Given the description of an element on the screen output the (x, y) to click on. 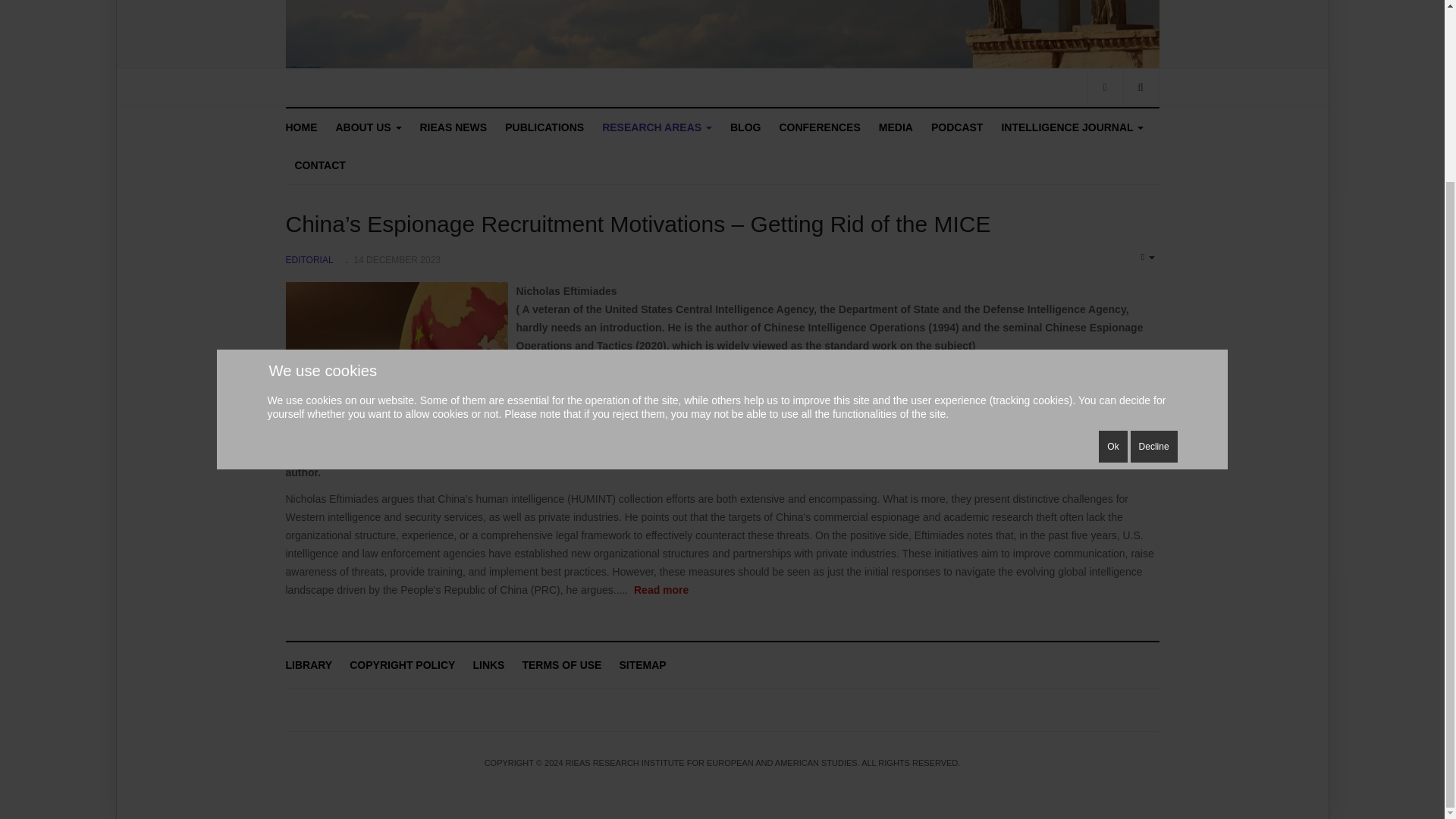
RIEAS Research Institute for European and American Studies (305, 127)
